Given the description of an element on the screen output the (x, y) to click on. 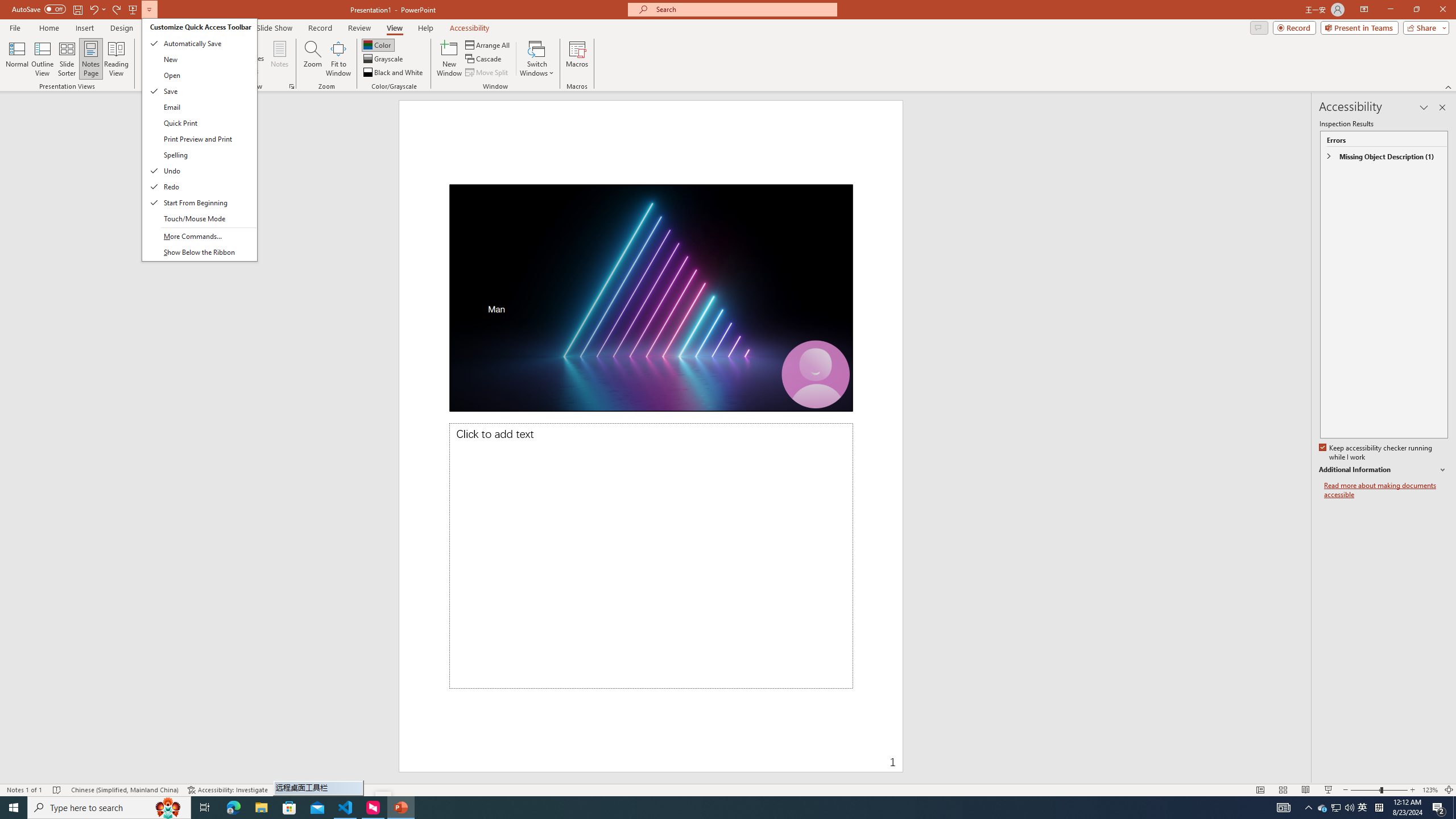
Grayscale (383, 58)
Zoom 123% (1430, 790)
Cascade (484, 58)
Keep accessibility checker running while I work (1376, 452)
Arrange All (488, 44)
